Given the description of an element on the screen output the (x, y) to click on. 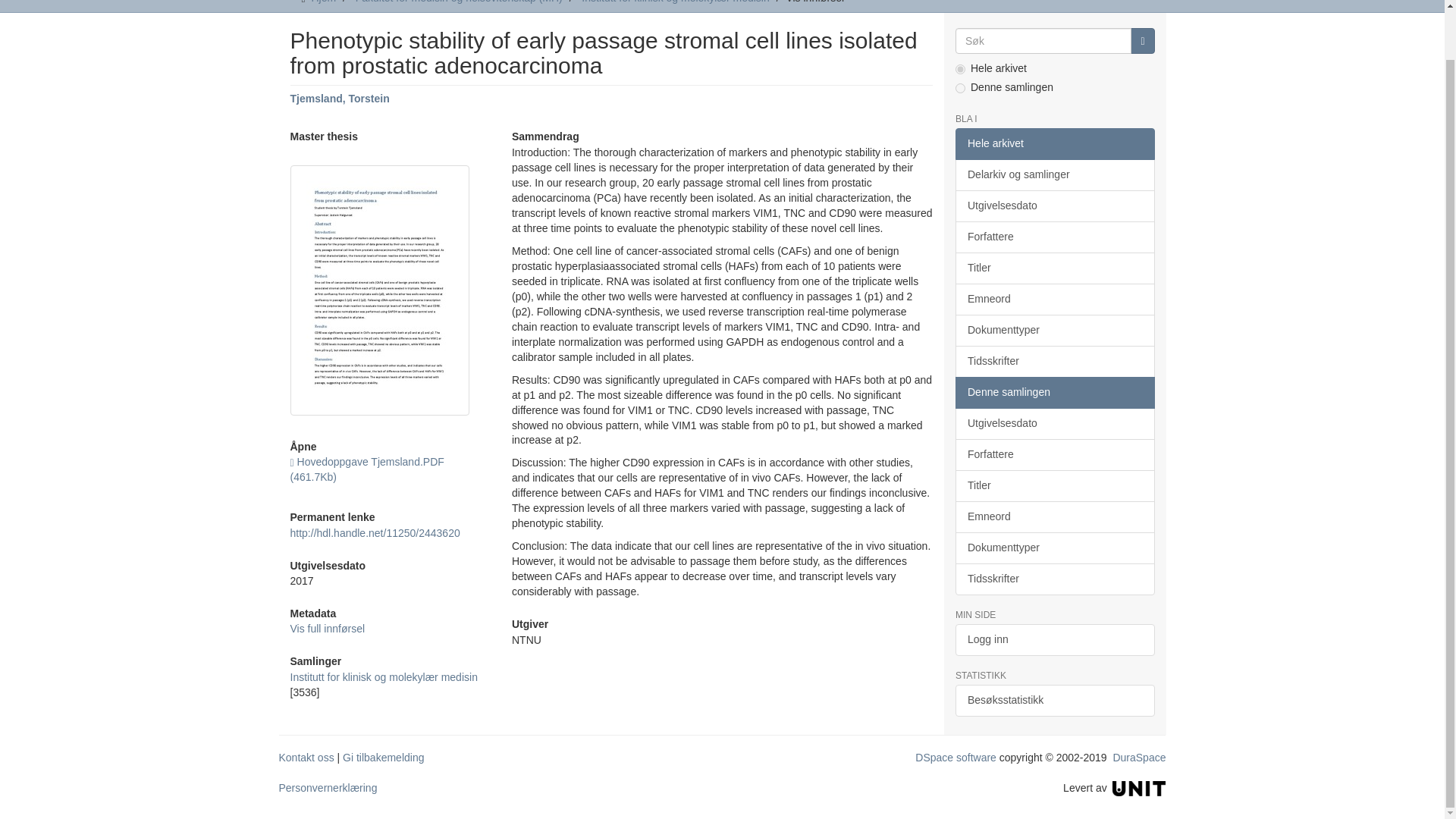
Tjemsland, Torstein (338, 98)
Hele arkivet (1054, 143)
Delarkiv og samlinger (1054, 174)
Forfattere (1054, 237)
Emneord (1054, 299)
Dokumenttyper (1054, 330)
Unit (1139, 787)
Hjem (323, 2)
Tidsskrifter (1054, 361)
Utgivelsesdato (1054, 205)
Titler (1054, 268)
